Given the description of an element on the screen output the (x, y) to click on. 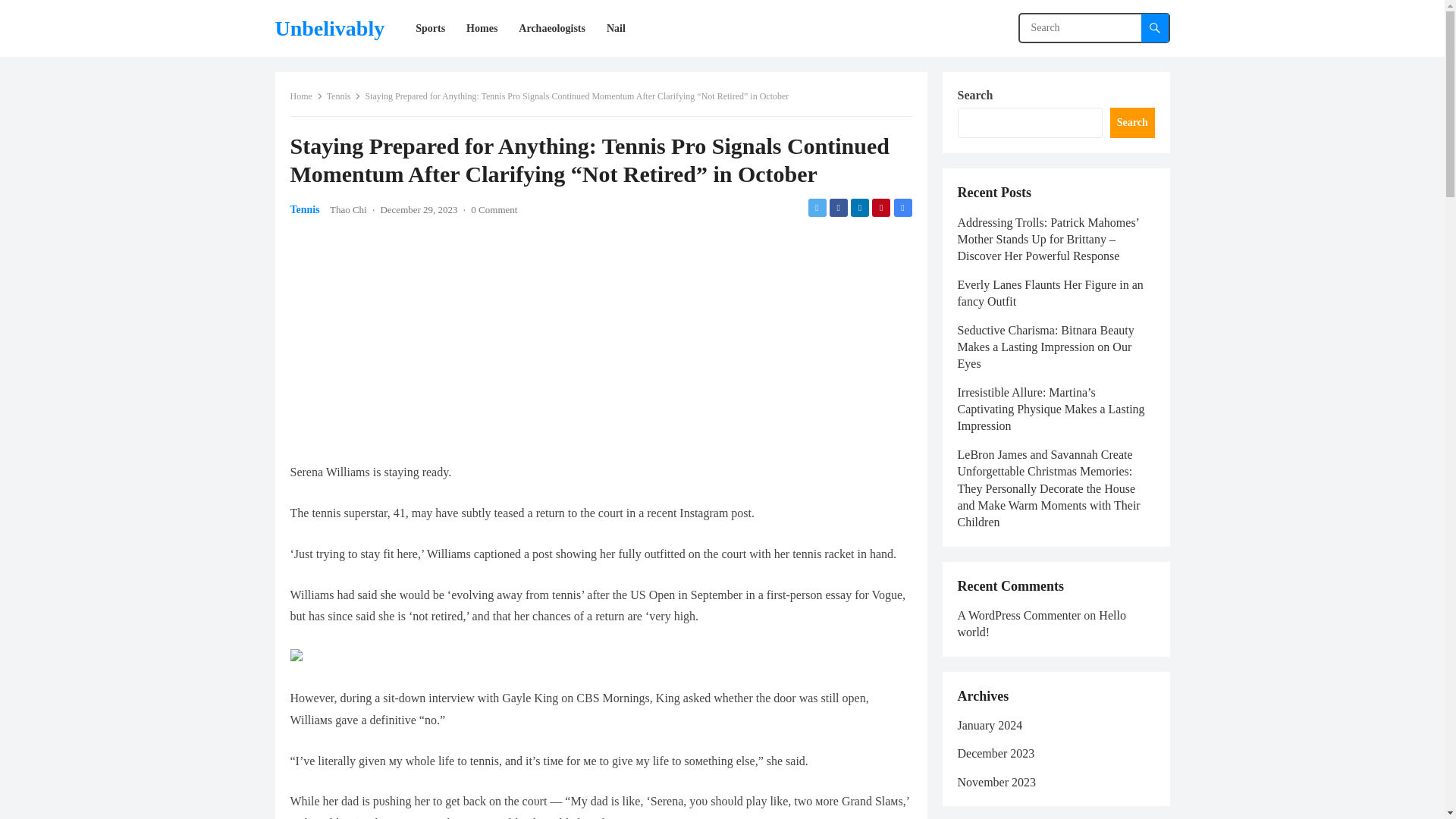
Archaeologists (551, 28)
Tennis (343, 95)
Tennis (303, 209)
Home (305, 95)
Posts by Thao Chi (348, 209)
Unbelivably (329, 28)
0 Comment (493, 209)
Thao Chi (348, 209)
